Given the description of an element on the screen output the (x, y) to click on. 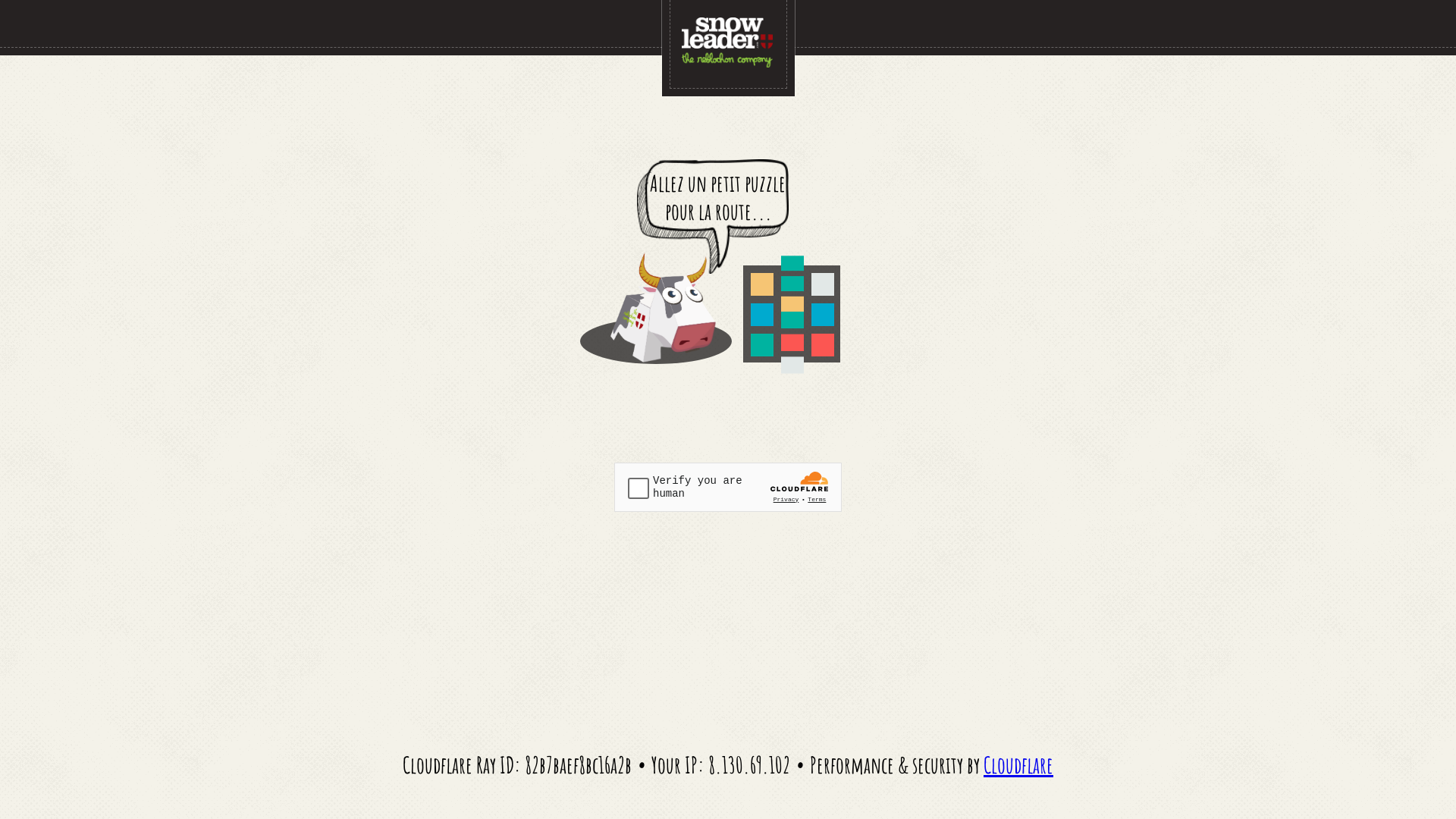
Widget containing a Cloudflare security challenge Element type: hover (727, 486)
Cloudflare Element type: text (1018, 764)
